Given the description of an element on the screen output the (x, y) to click on. 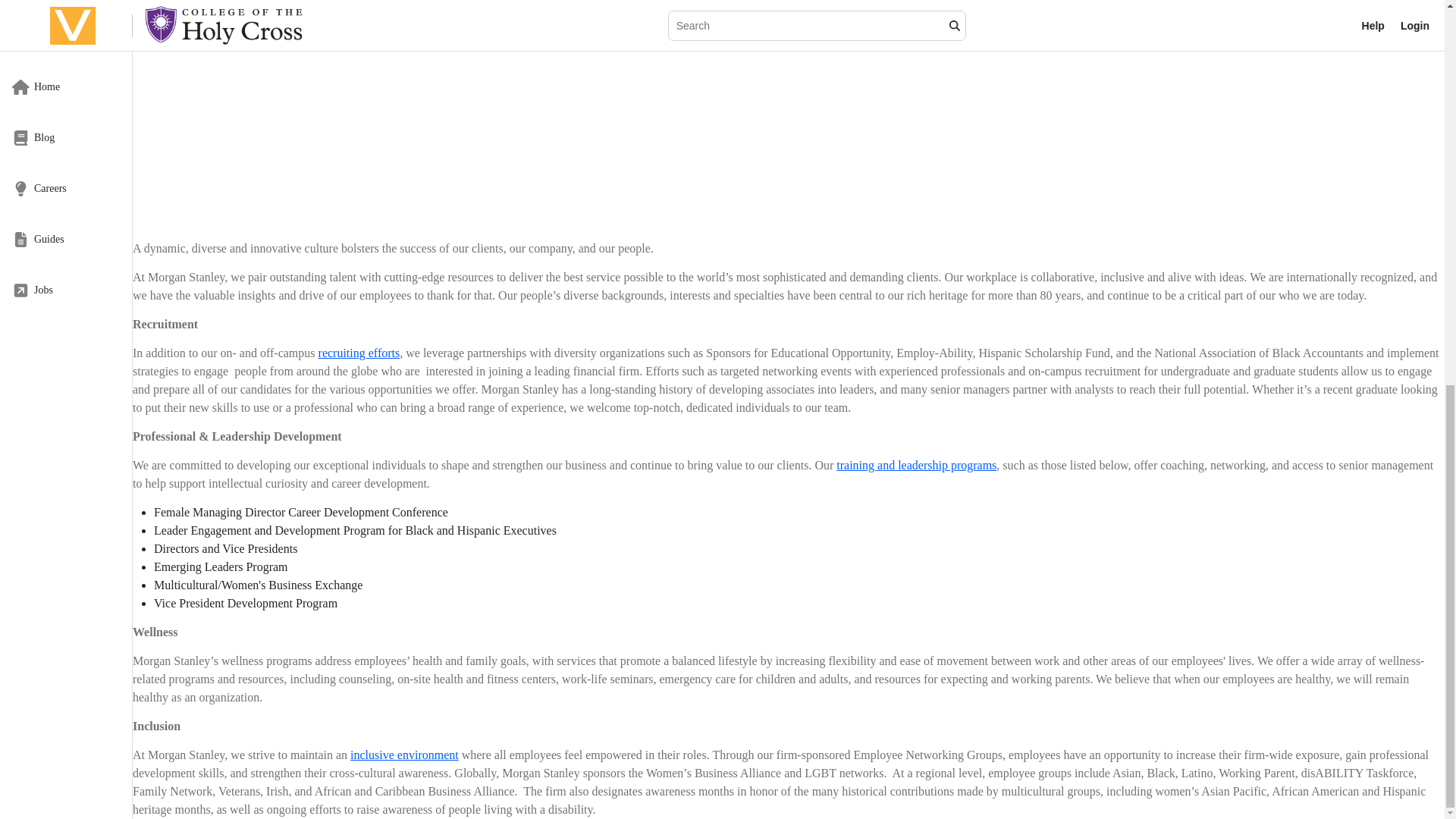
recruiting efforts (359, 352)
training and leadership programs (915, 464)
inclusive environment (404, 754)
